Given the description of an element on the screen output the (x, y) to click on. 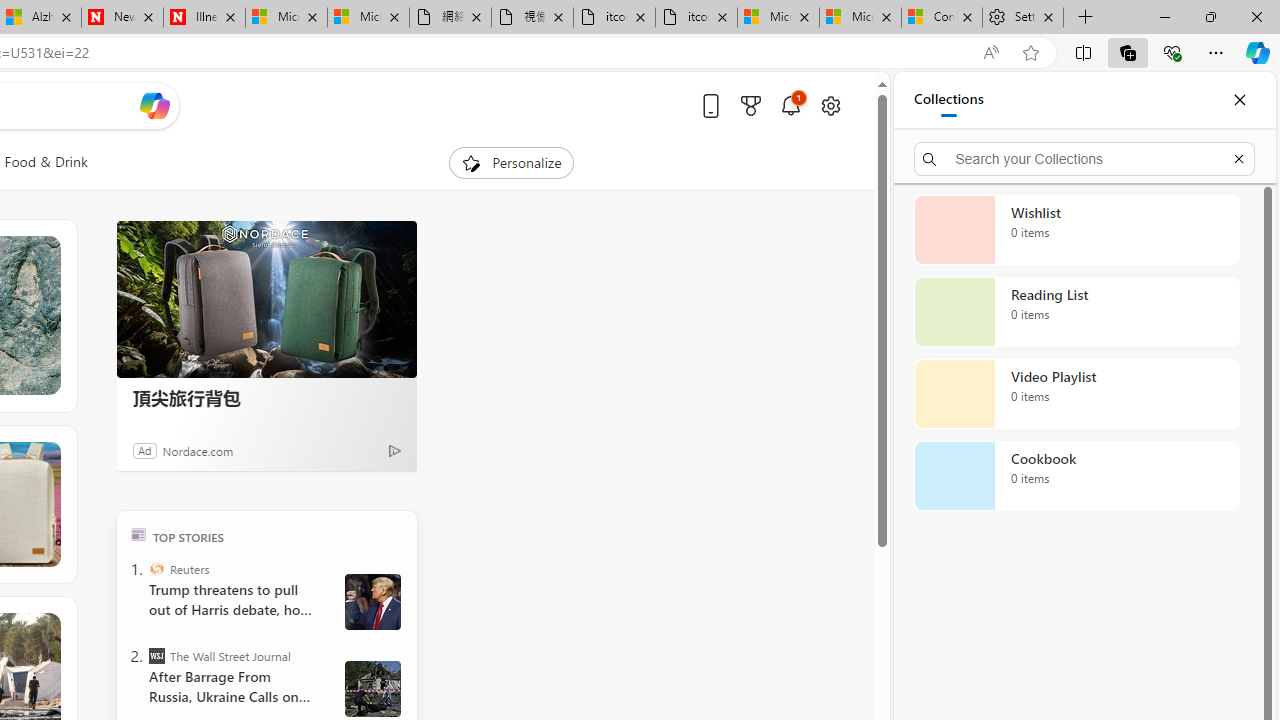
Exit search (1238, 158)
Illness news & latest pictures from Newsweek.com (203, 17)
Cookbook collection, 0 items (1076, 475)
